Given the description of an element on the screen output the (x, y) to click on. 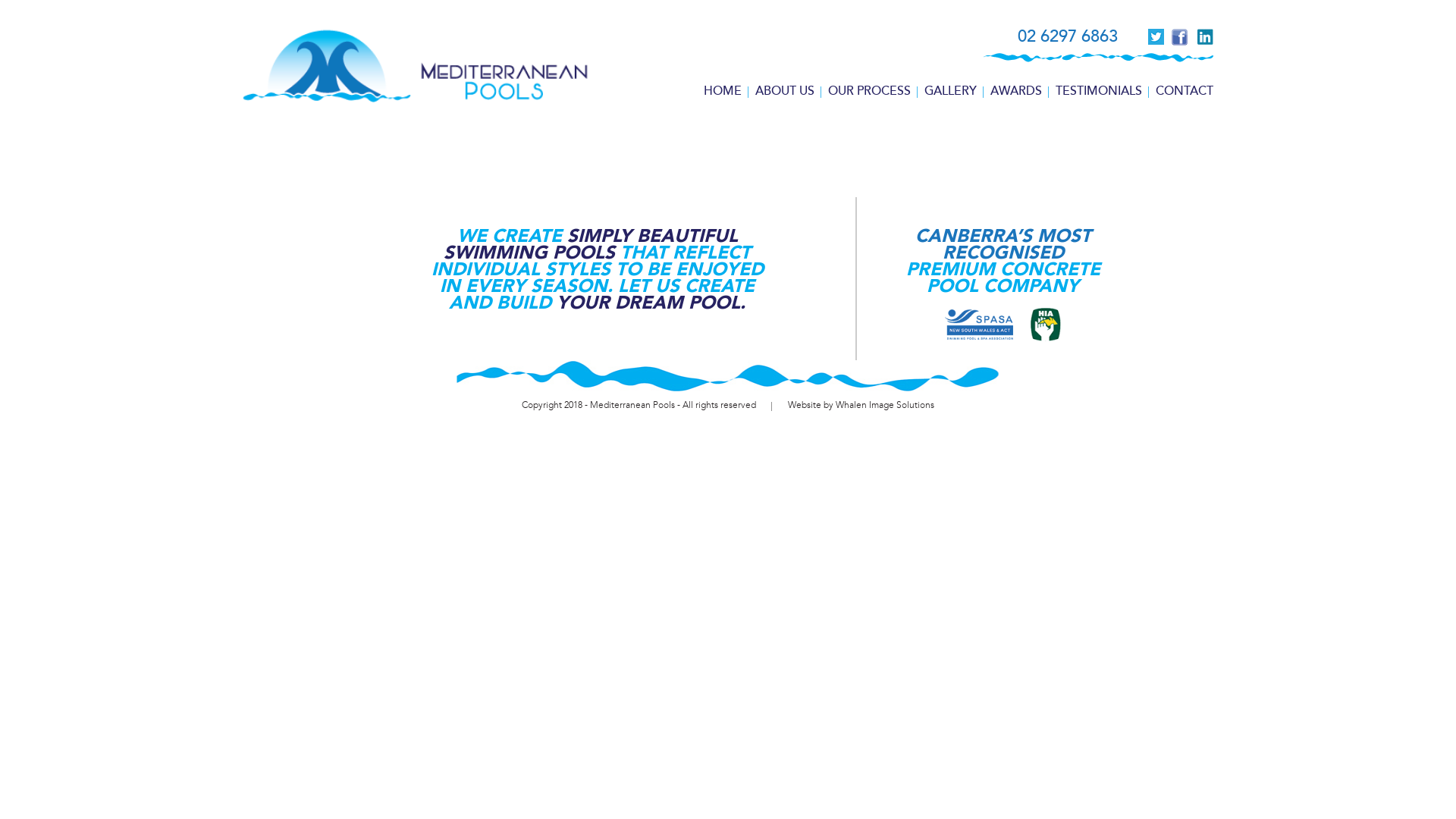
ABOUT US Element type: text (784, 90)
GALLERY Element type: text (950, 90)
OUR PROCESS Element type: text (869, 90)
CONTACT Element type: text (1184, 90)
AWARDS Element type: text (1015, 90)
02 6297 6863 Element type: text (1067, 36)
Whalen Image Solutions Element type: text (884, 404)
TESTIMONIALS Element type: text (1098, 90)
HOME Element type: text (722, 90)
